Given the description of an element on the screen output the (x, y) to click on. 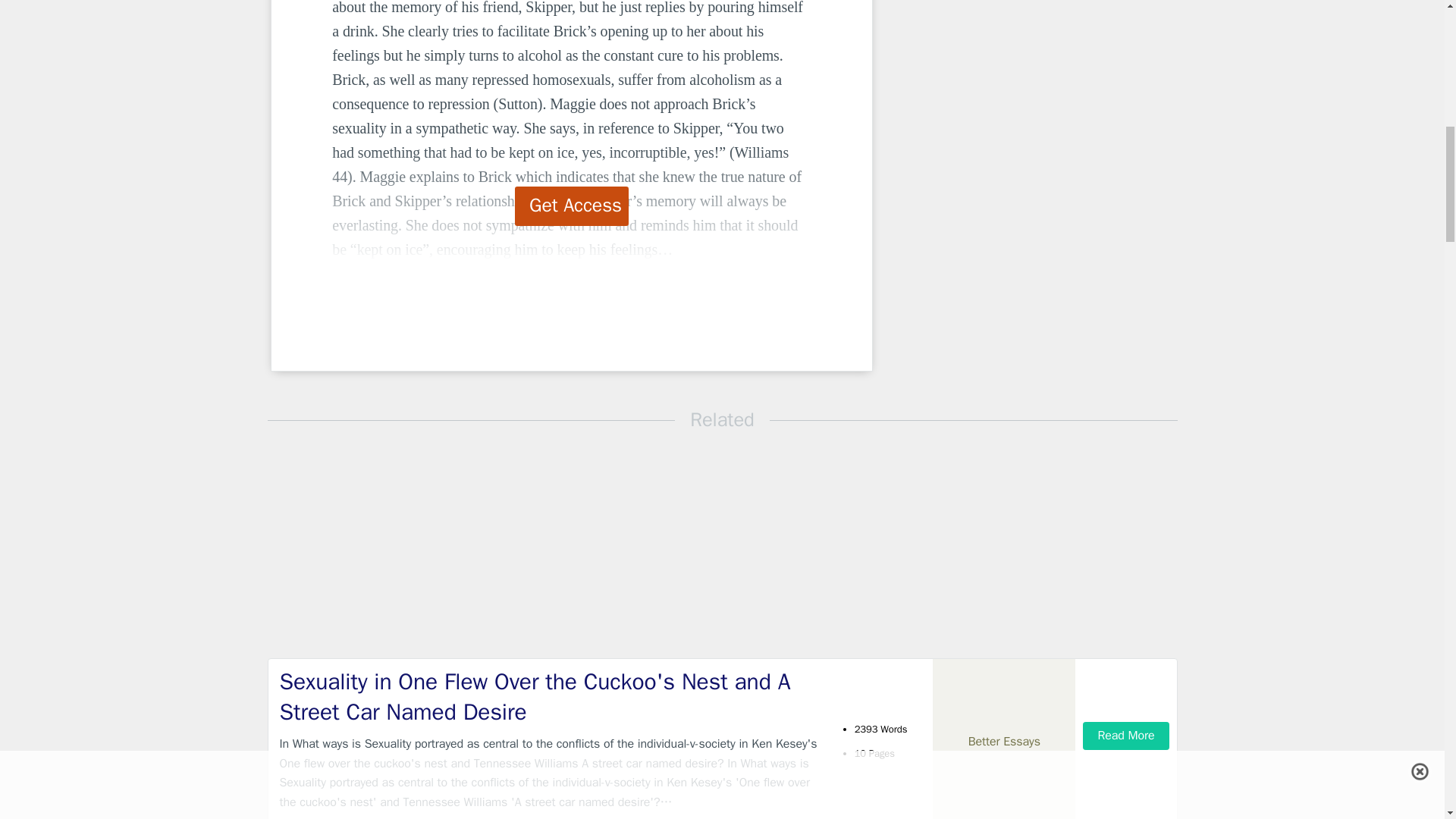
Read More (1126, 735)
Get Access (571, 206)
